Given the description of an element on the screen output the (x, y) to click on. 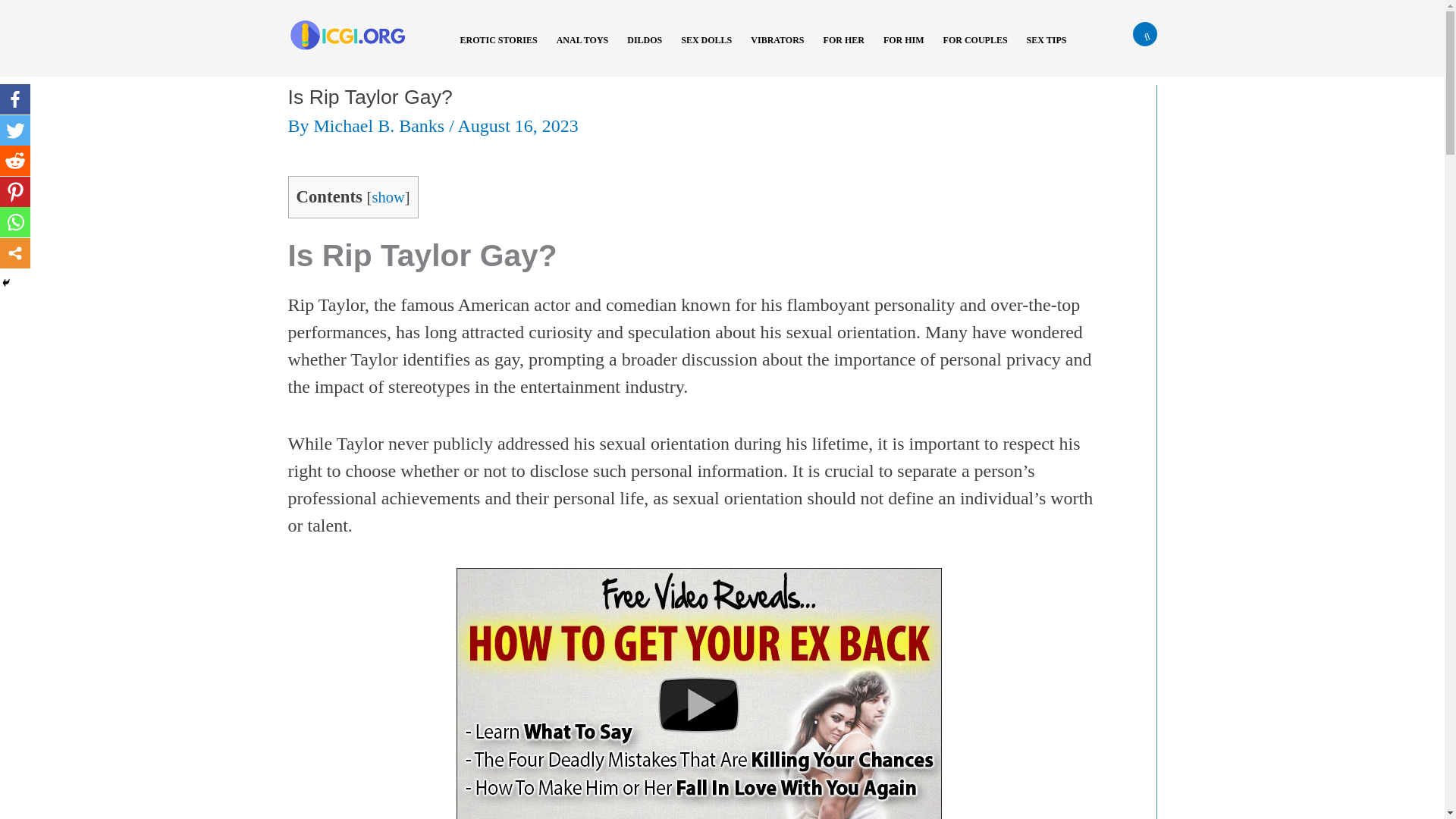
View all posts by Michael B. Banks (381, 125)
Michael B. Banks (381, 125)
Facebook (15, 99)
DILDOS (649, 50)
VIBRATORS (783, 50)
Hide (5, 282)
Twitter (15, 130)
SEX DOLLS (711, 50)
SEX TIPS (1052, 50)
Pinterest (15, 191)
